Given the description of an element on the screen output the (x, y) to click on. 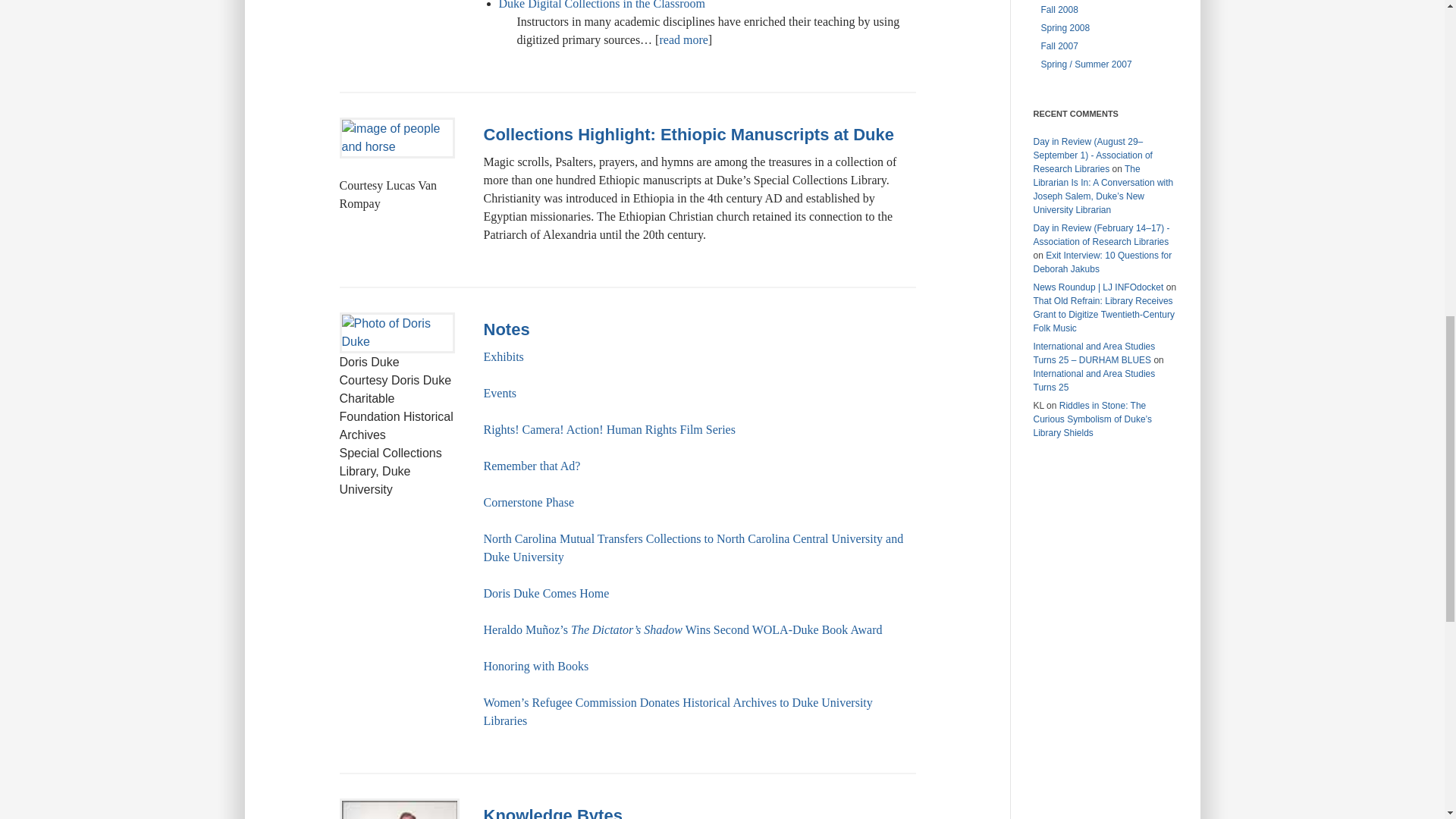
Remember that Ad? (531, 465)
Honoring with Books (536, 666)
Rights! Camera! Action! Human Rights Film Series (609, 429)
Duke Digital Collections in the Classroom (601, 4)
Knowledge Bytes (553, 812)
Notes (506, 329)
Exhibits (503, 356)
Events (499, 392)
Cornerstone Phase (529, 502)
Collections Highlight: Ethiopic Manuscripts at Duke (688, 134)
Doris Duke Comes Home (546, 593)
read more (683, 39)
